Given the description of an element on the screen output the (x, y) to click on. 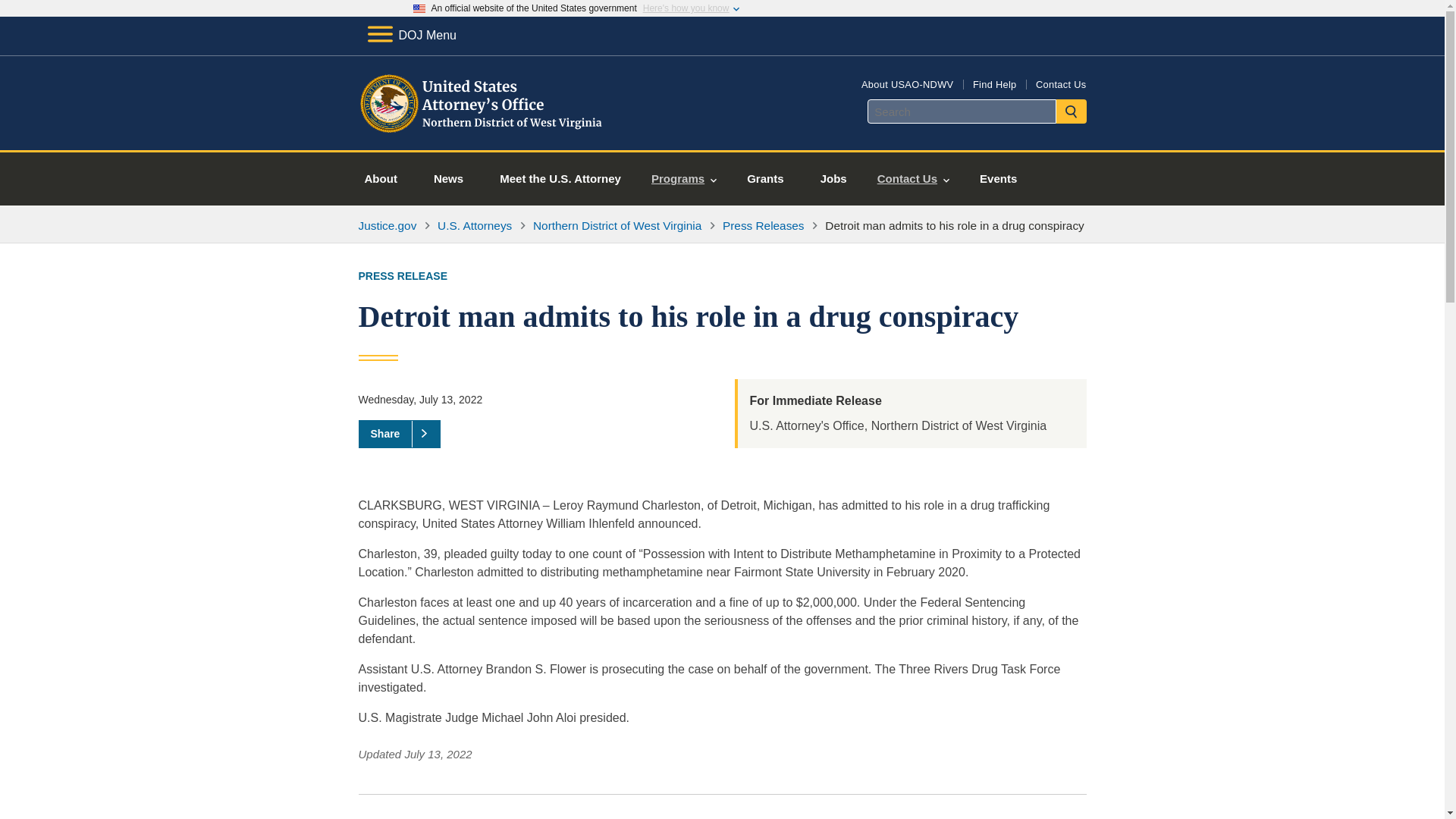
Events (997, 179)
Events (997, 179)
Jobs (833, 179)
News (447, 179)
Share (398, 433)
Home (481, 132)
Contact Us (1060, 84)
Programs (684, 179)
Here's how you know (686, 8)
DOJ Menu (411, 35)
About USAO-NDWV (907, 84)
Justice.gov (387, 225)
Press Releases (763, 225)
Grants (765, 179)
Meet the U.S. Attorney (560, 179)
